Given the description of an element on the screen output the (x, y) to click on. 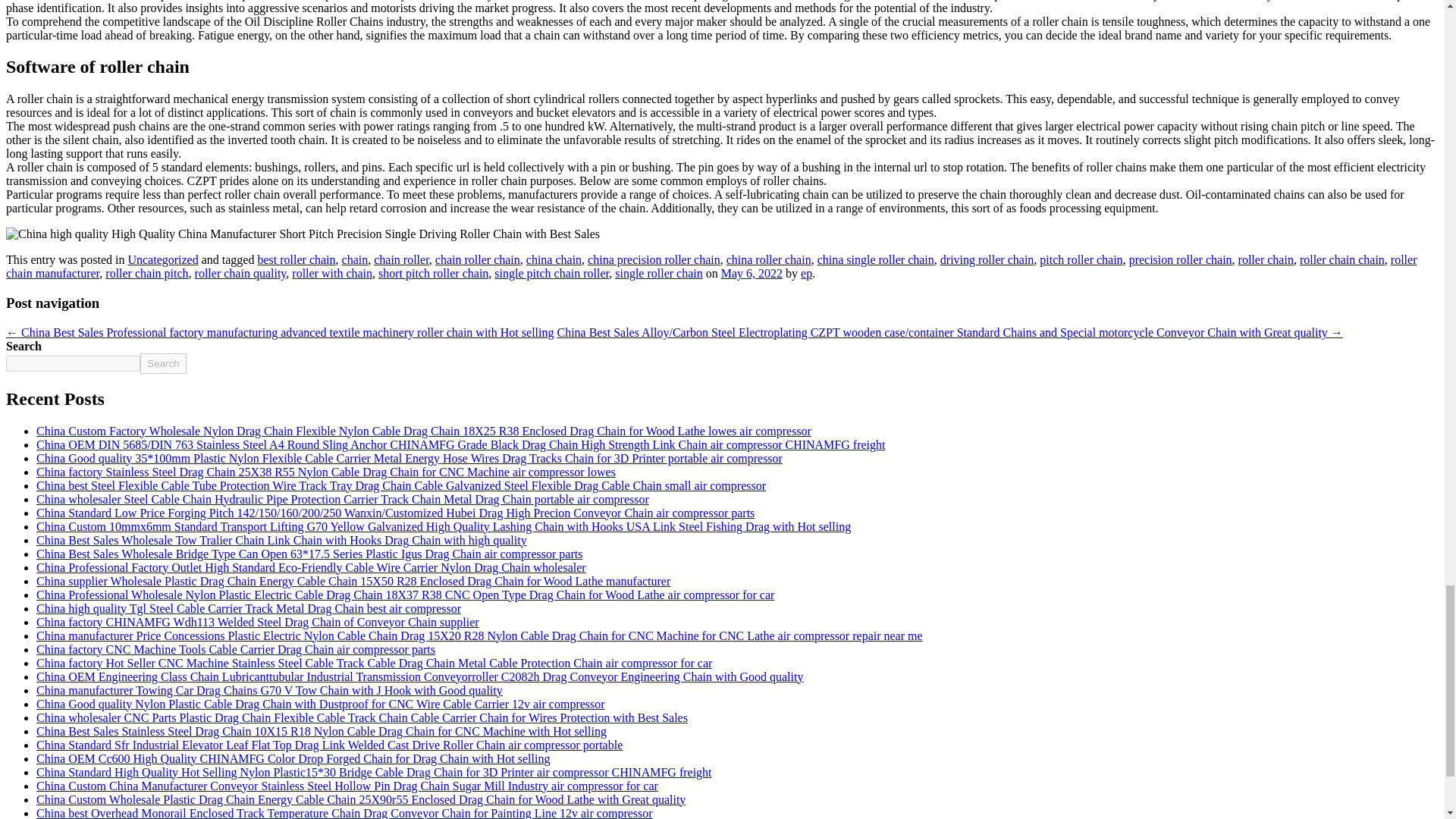
china roller chain (768, 259)
roller chain manufacturer (710, 266)
Uncategorized (163, 259)
pitch roller chain (1080, 259)
2:11 am (751, 273)
May 6, 2022 (751, 273)
china chain (552, 259)
roller chain pitch (145, 273)
precision roller chain (1180, 259)
single pitch chain roller (551, 273)
single roller chain (658, 273)
chain roller chain (477, 259)
chain roller (401, 259)
china single roller chain (875, 259)
Search (162, 362)
